Given the description of an element on the screen output the (x, y) to click on. 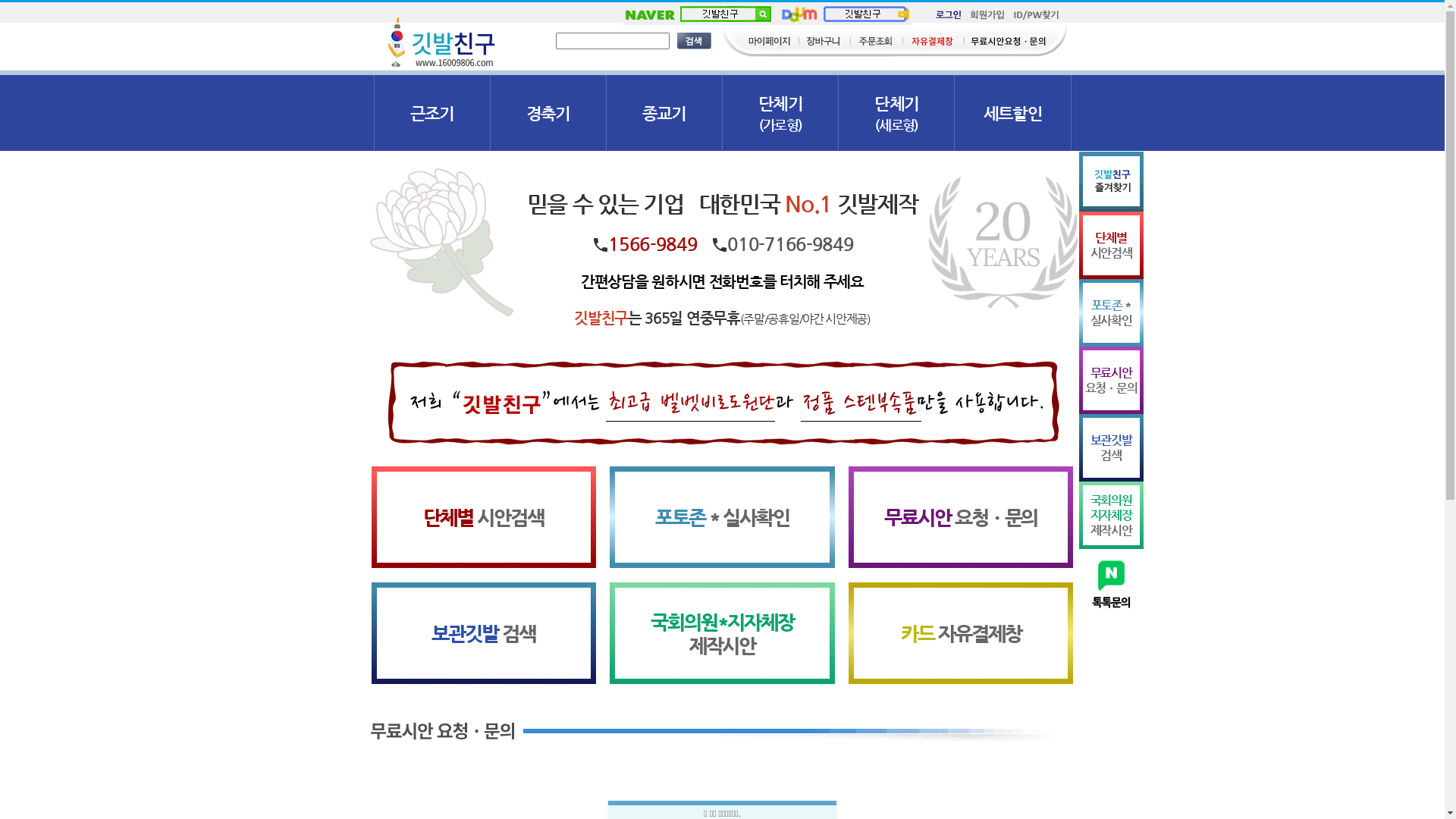
1566-9849 Element type: text (652, 243)
010-7166-9849 Element type: text (790, 243)
